Given the description of an element on the screen output the (x, y) to click on. 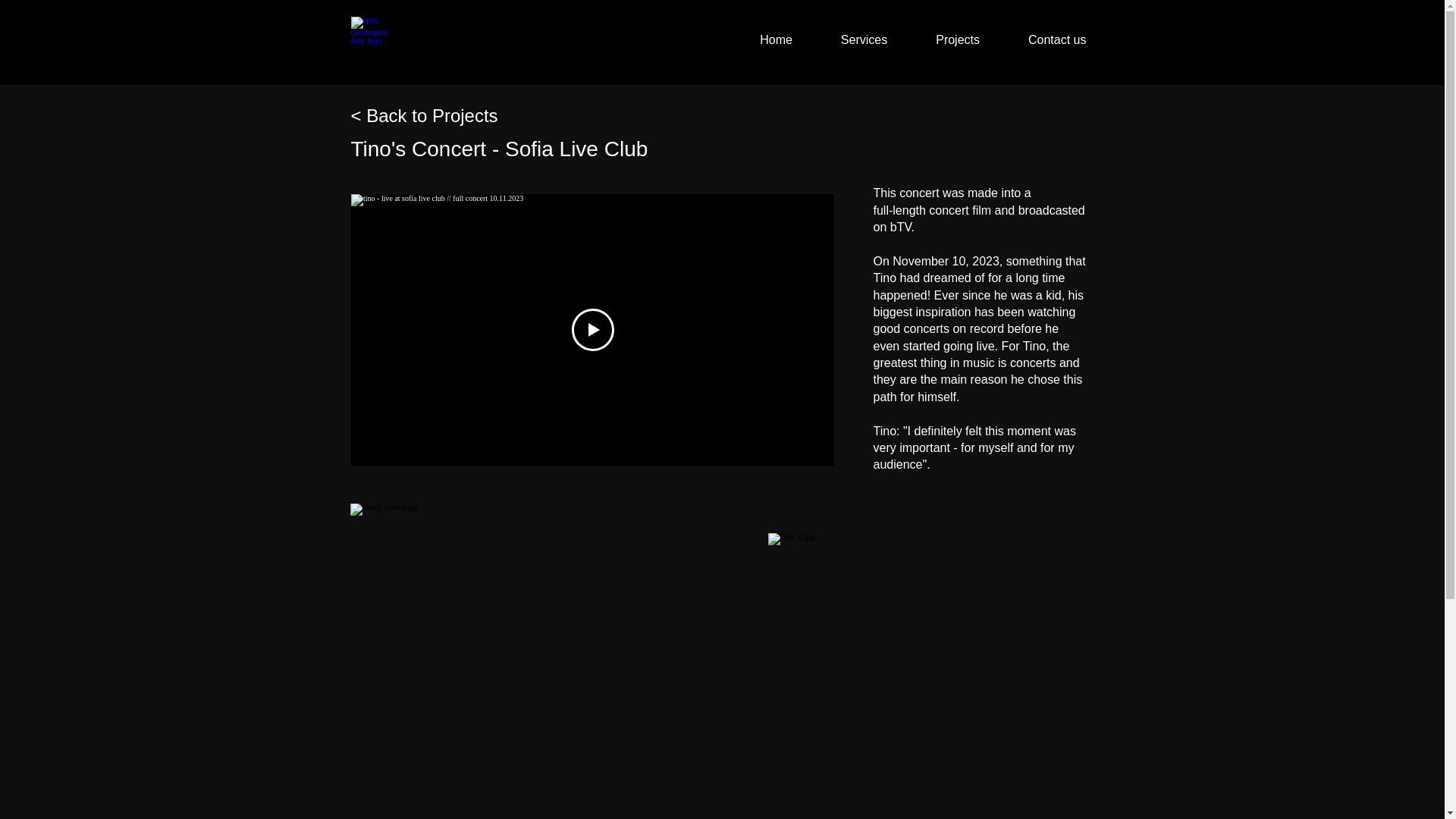
Contact us (1056, 39)
Services (863, 39)
Projects (957, 39)
Home (775, 39)
